Given the description of an element on the screen output the (x, y) to click on. 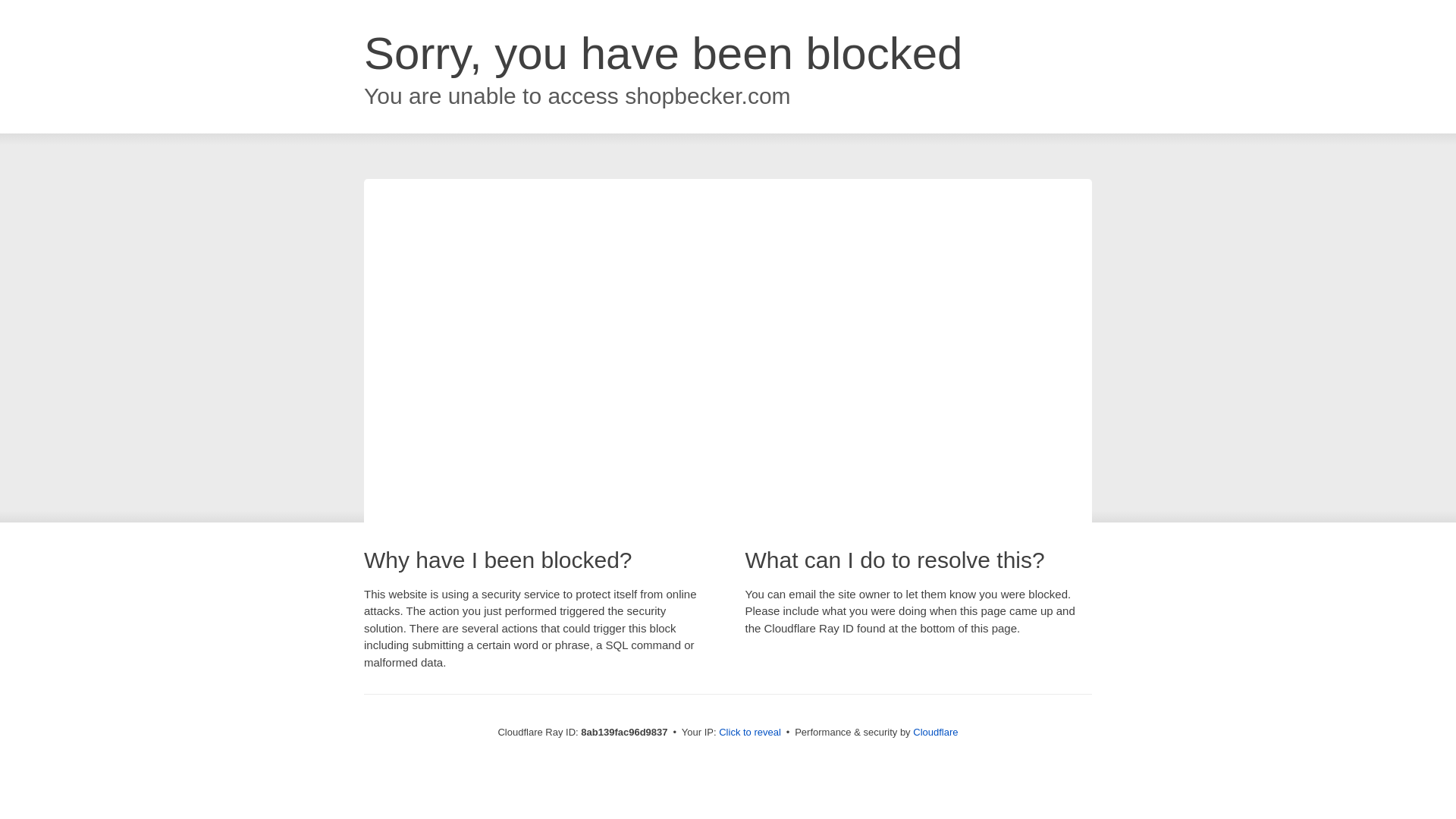
Cloudflare (935, 731)
Click to reveal (749, 732)
